Given the description of an element on the screen output the (x, y) to click on. 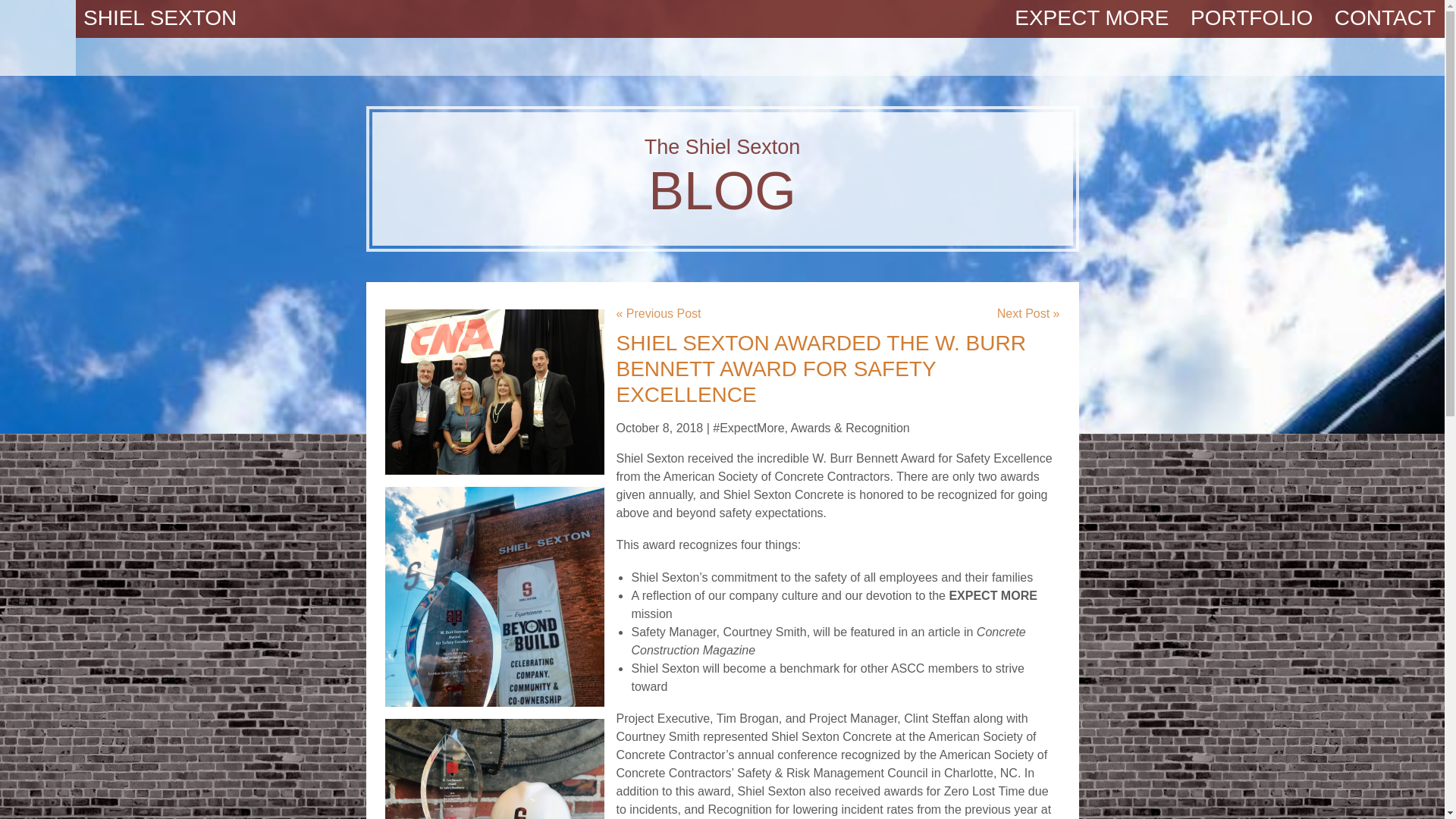
SHIEL SEXTON (158, 17)
EXPECT MORE (1091, 18)
PORTFOLIO (722, 177)
